Given the description of an element on the screen output the (x, y) to click on. 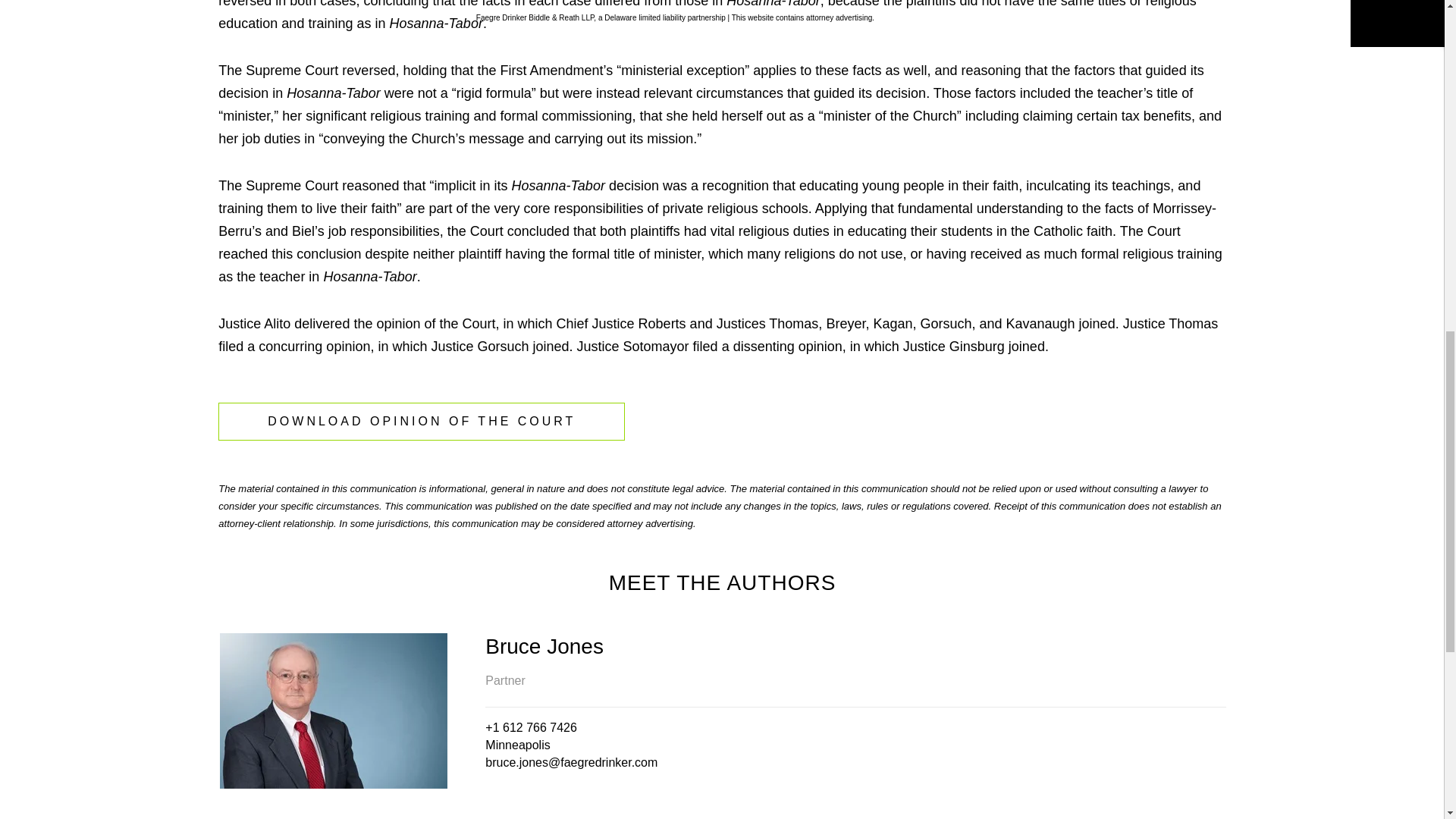
DOWNLOAD OPINION OF THE COURT (421, 421)
Minneapolis (517, 744)
Bruce Jones (854, 646)
